Given the description of an element on the screen output the (x, y) to click on. 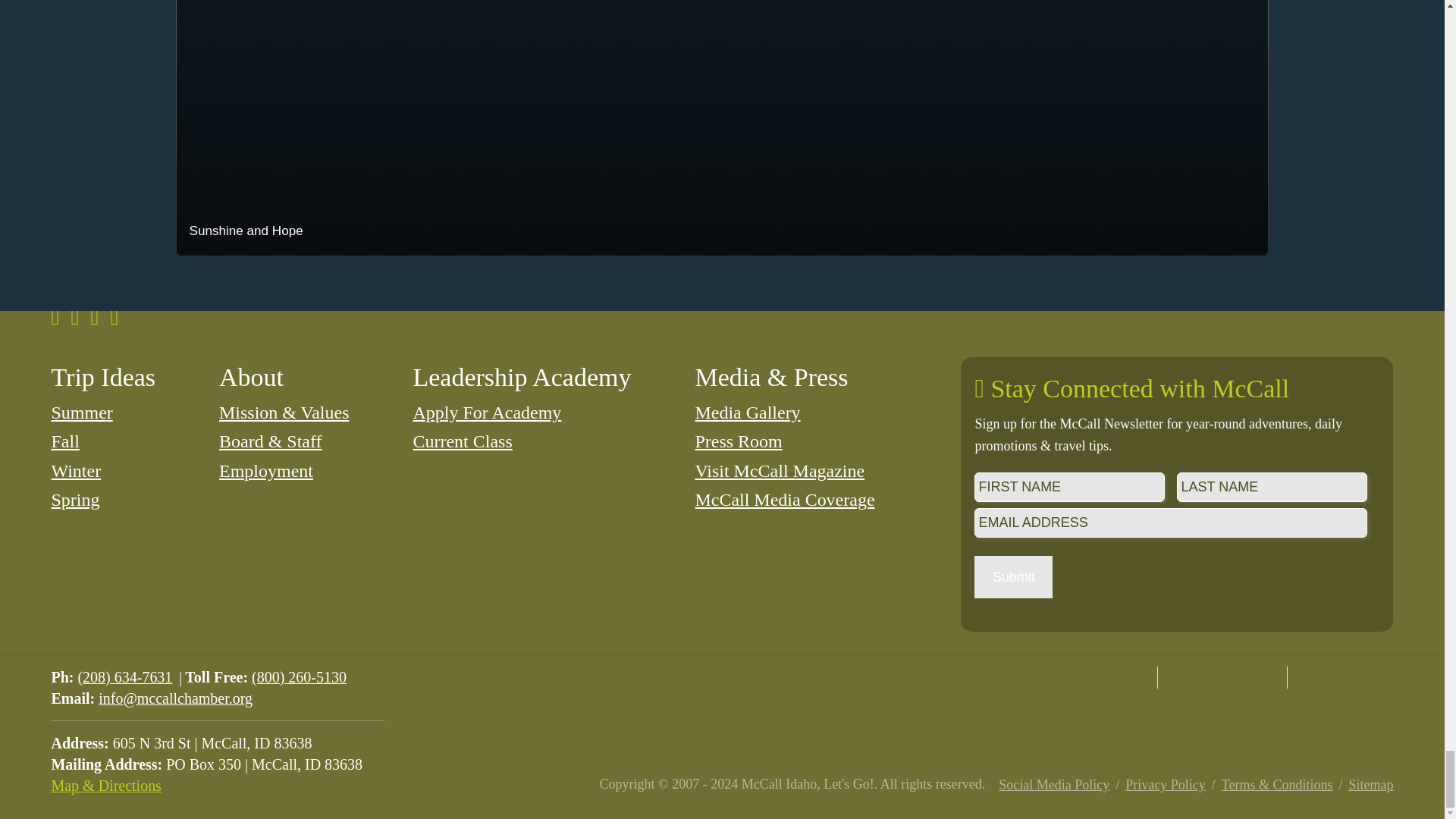
Visit McCall (1092, 677)
Submit (1013, 577)
